Given the description of an element on the screen output the (x, y) to click on. 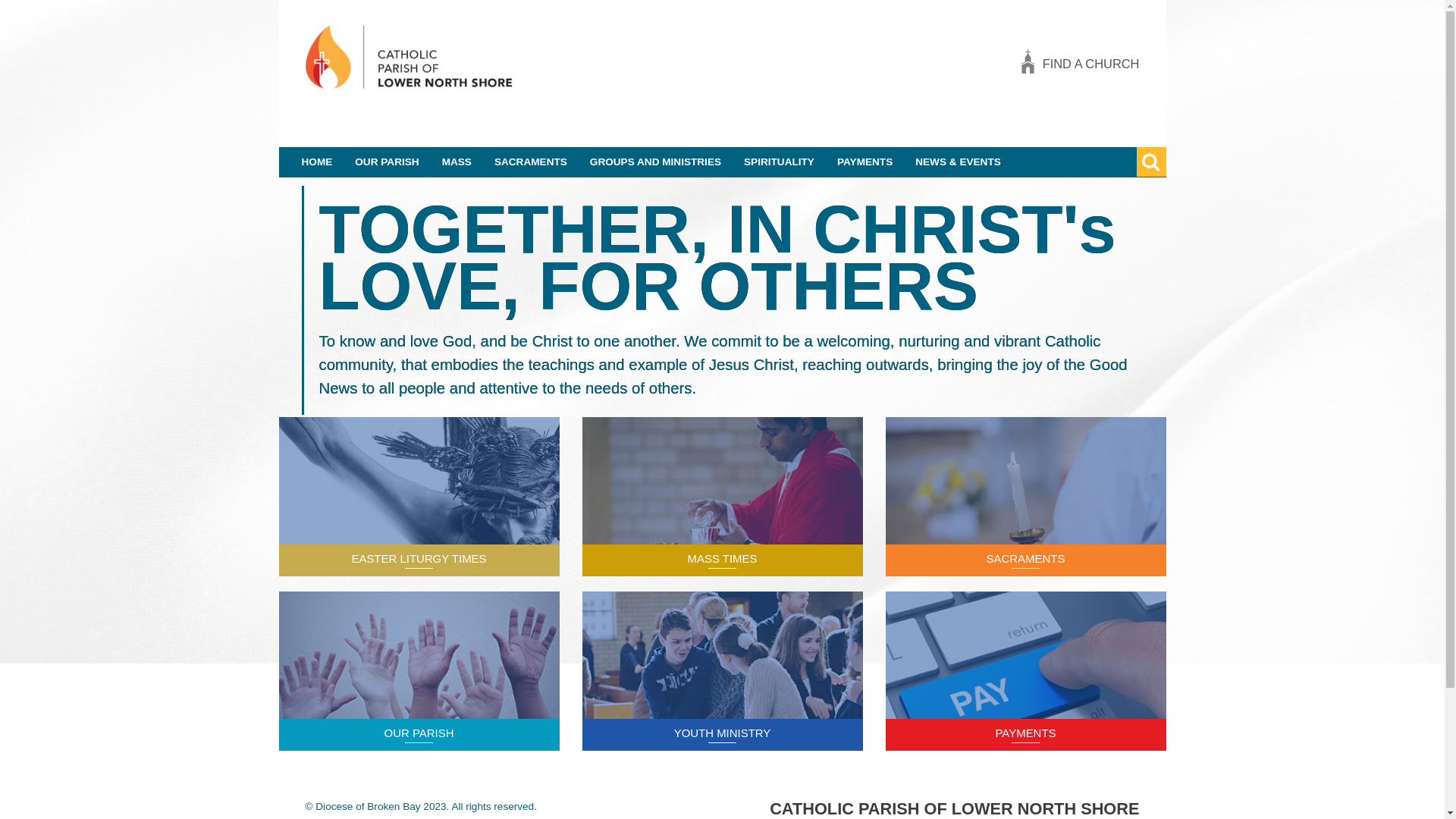
OUR PARISH Element type: text (419, 732)
MASS Element type: text (456, 162)
OUR PARISH Element type: text (386, 162)
SPIRITUALITY Element type: text (778, 162)
YOUTH MINISTRY Element type: text (722, 732)
SACRAMENTS Element type: text (1025, 558)
FIND A CHURCH Element type: text (1090, 63)
SACRAMENTS Element type: text (530, 162)
GROUPS AND MINISTRIES Element type: text (655, 162)
EASTER LITURGY TIMES Element type: text (418, 558)
PAYMENTS Element type: text (864, 162)
MASS TIMES Element type: text (722, 558)
HOME Element type: text (316, 162)
NEWS & EVENTS Element type: text (957, 162)
PAYMENTS Element type: text (1024, 732)
